Given the description of an element on the screen output the (x, y) to click on. 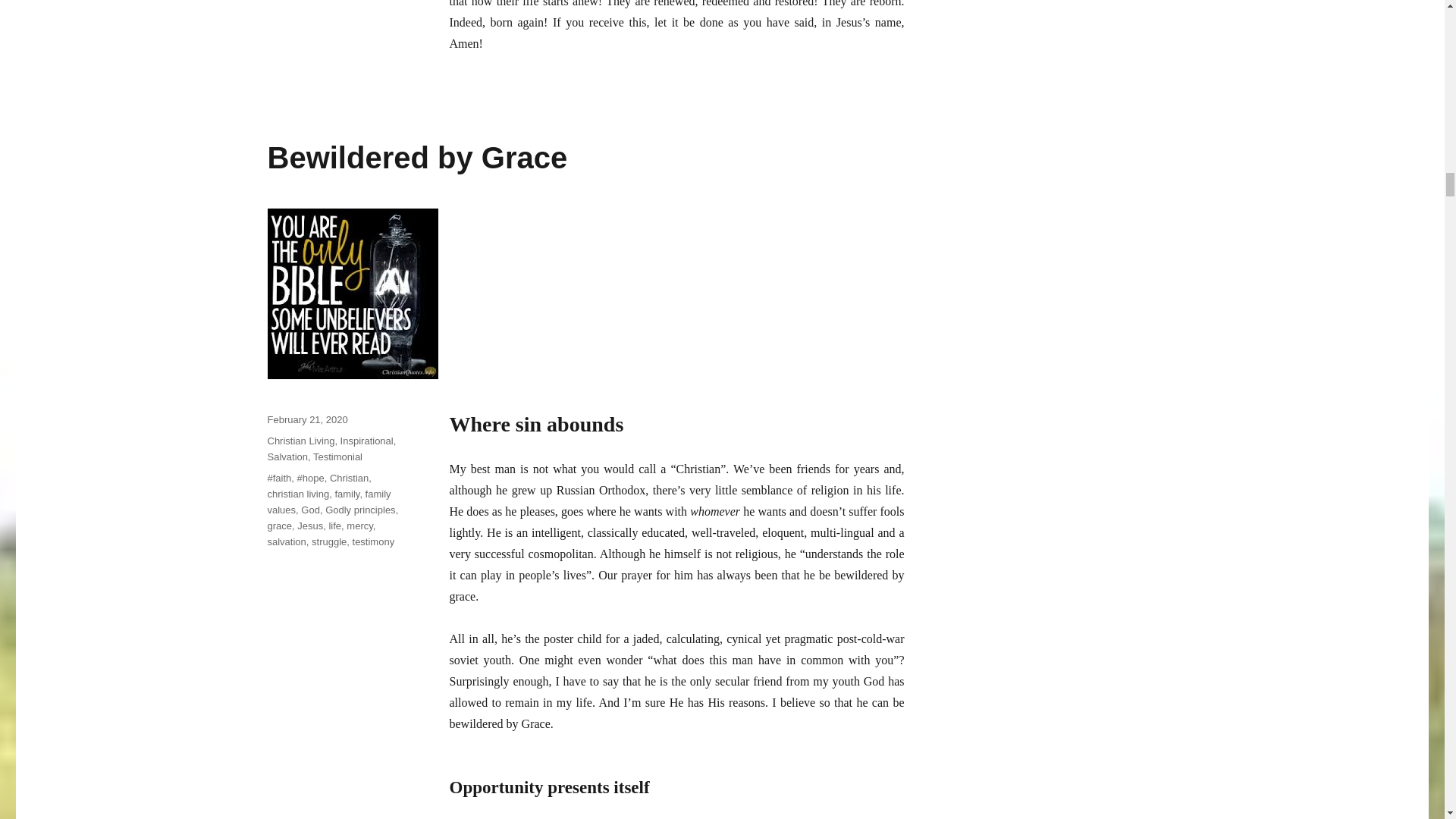
Christian (349, 478)
Testimonial (337, 456)
Bewildered by Grace (416, 157)
Inspirational (366, 440)
Christian Living (300, 440)
Salvation (286, 456)
February 21, 2020 (306, 419)
